Given the description of an element on the screen output the (x, y) to click on. 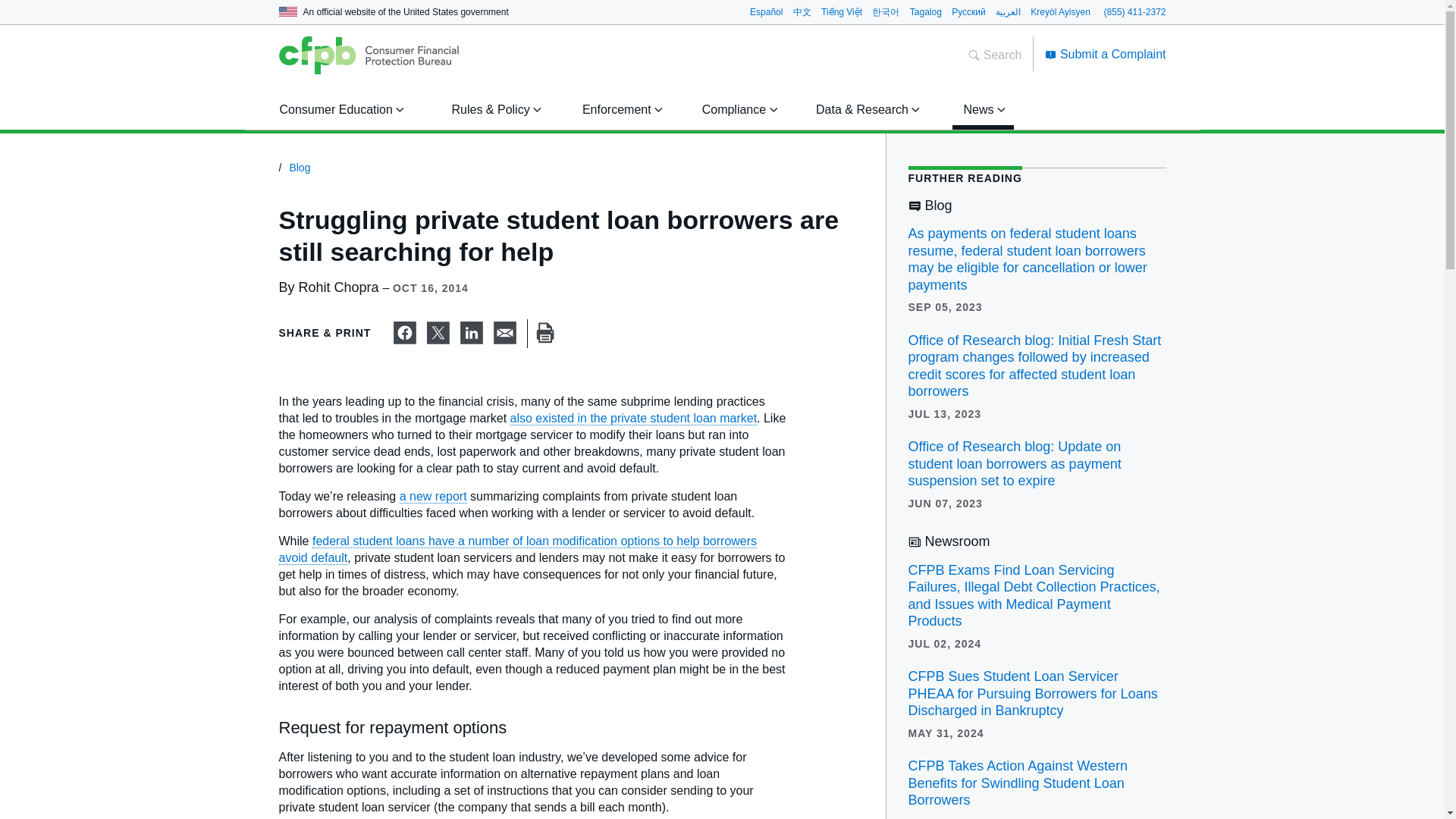
Submit a Complaint (1105, 52)
Consumer Education (339, 109)
Search (995, 54)
Tagalog (926, 10)
